Given the description of an element on the screen output the (x, y) to click on. 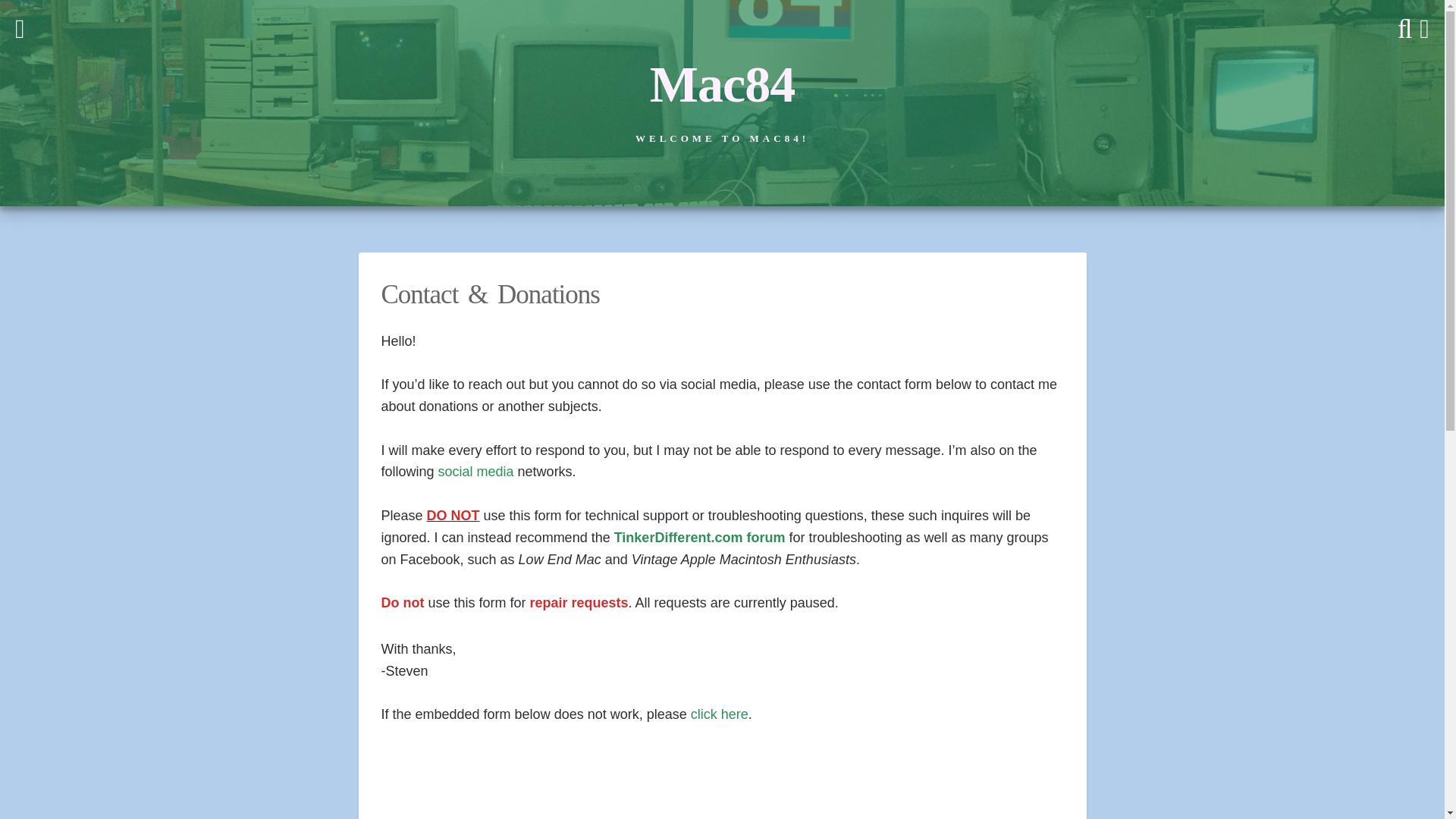
TinkerDifferent.com forum (700, 537)
Mac84 (721, 84)
click here (719, 713)
social media (475, 471)
